Given the description of an element on the screen output the (x, y) to click on. 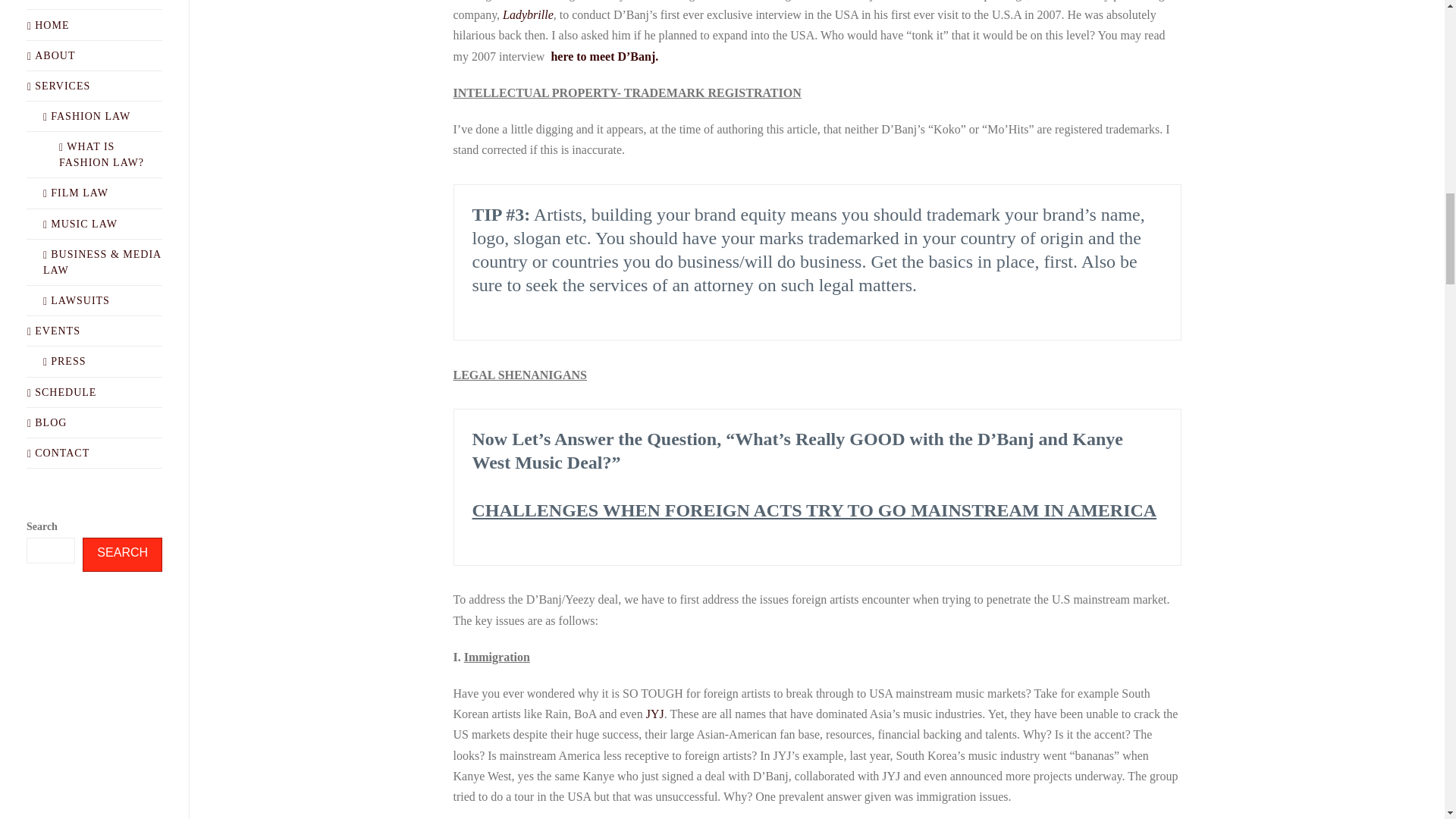
JYJ (654, 713)
Ladybrille (526, 14)
